Given the description of an element on the screen output the (x, y) to click on. 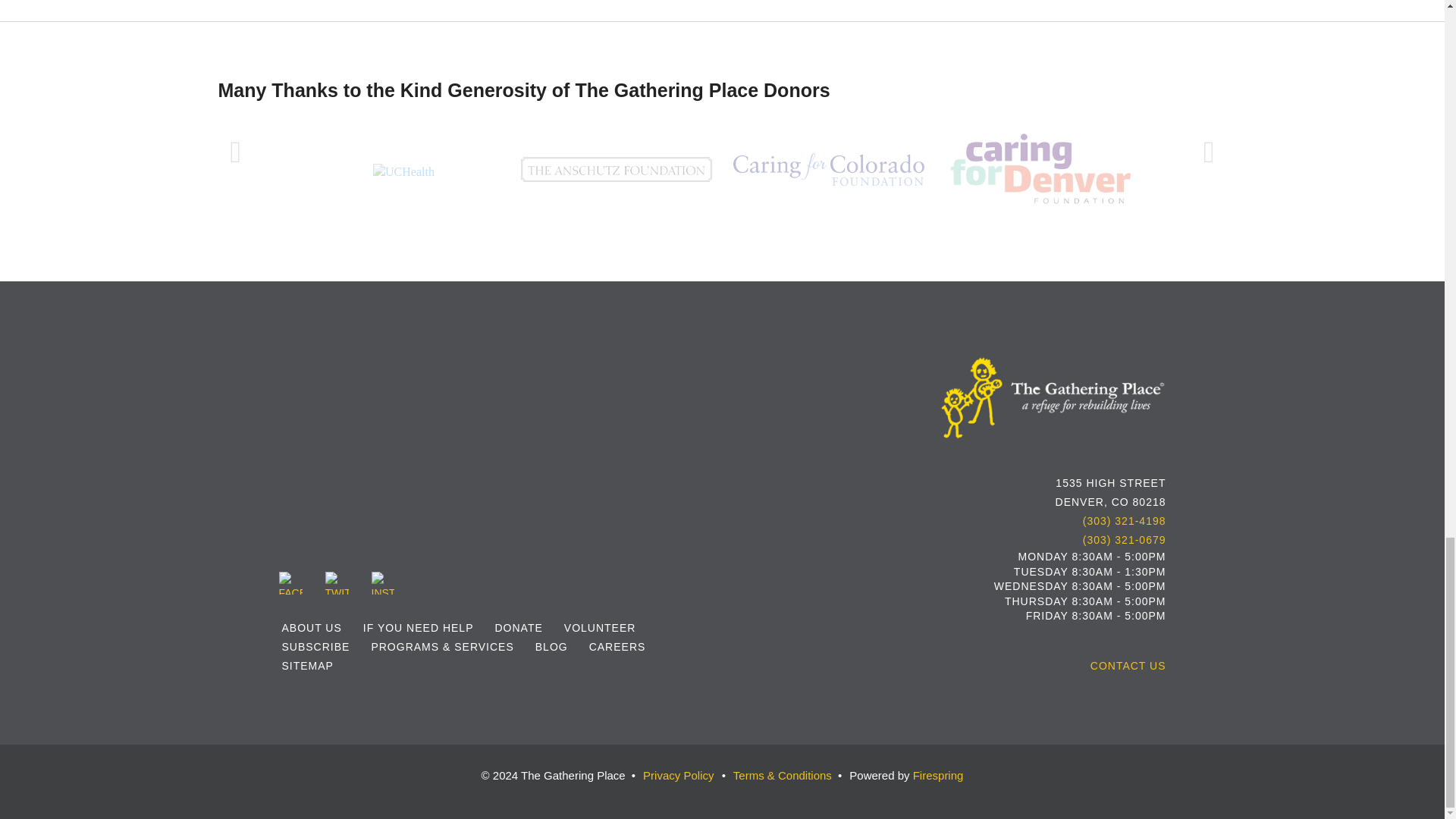
logo (1052, 398)
